Given the description of an element on the screen output the (x, y) to click on. 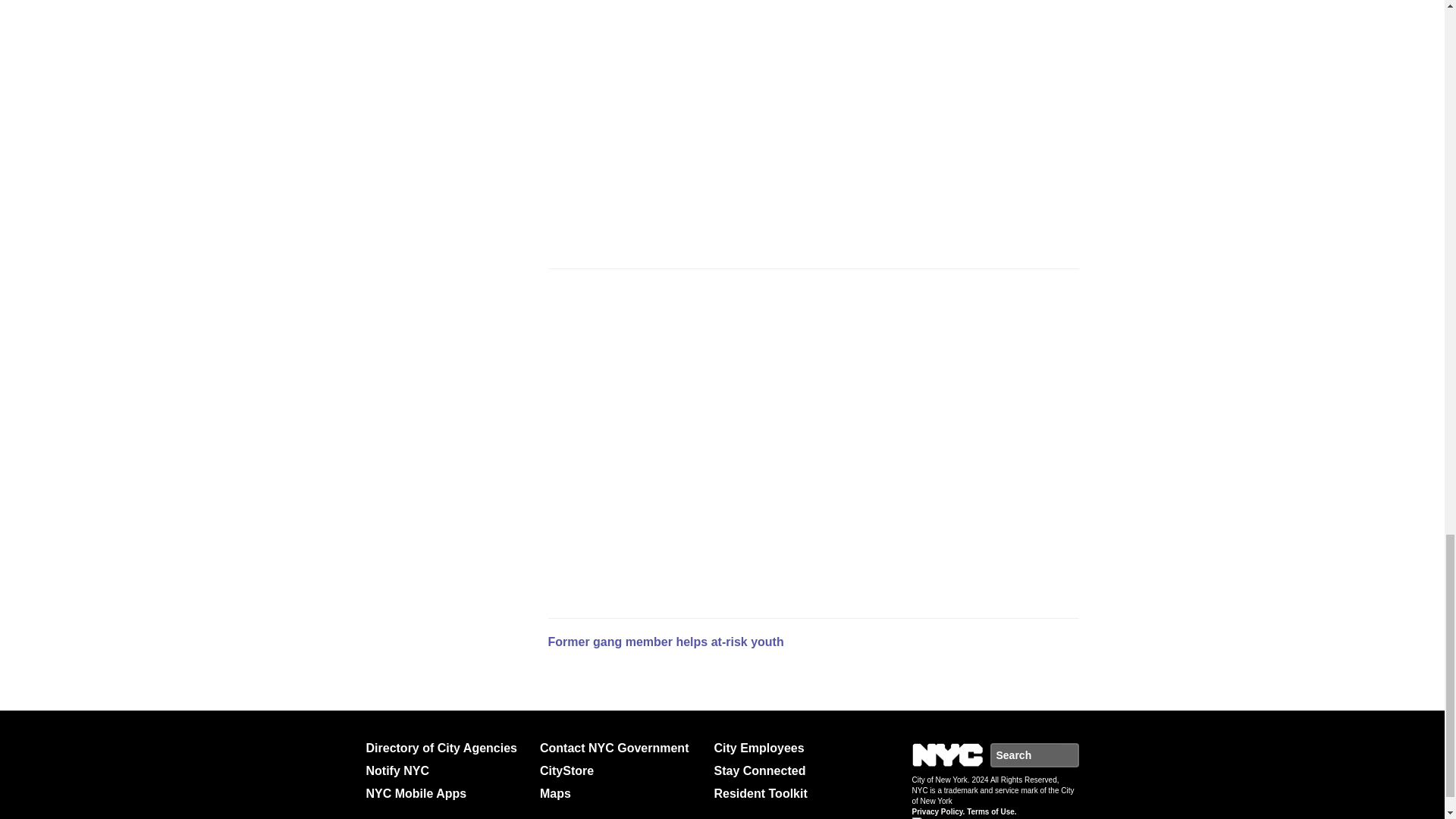
Former gang member helps at-risk youth (665, 641)
Privacy Ploicy  (937, 811)
Notify NYC (446, 771)
Contact NYC Government (620, 748)
Directory of City Agencies (446, 748)
Terms of Use (991, 811)
CityStore (620, 771)
City Employees (795, 748)
